Given the description of an element on the screen output the (x, y) to click on. 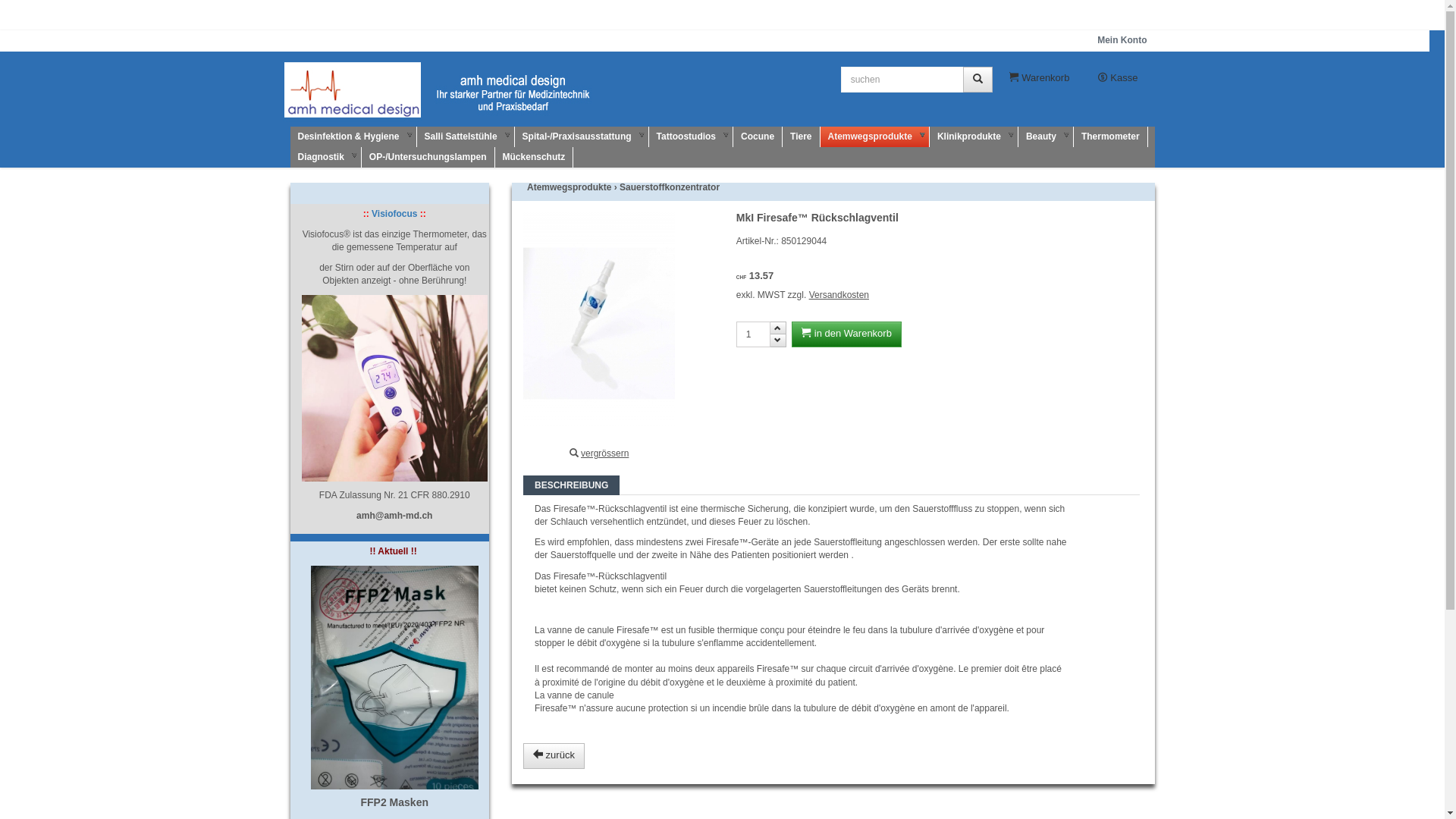
Warenkorb Element type: text (1039, 79)
BESCHREIBUNG Element type: text (571, 485)
Versandkosten Element type: text (839, 294)
OP-/Untersuchungslampen Element type: text (428, 157)
Spital-/Praxisausstattung Element type: text (581, 136)
Mein Konto Element type: text (1121, 39)
in den Warenkorb Element type: text (846, 334)
FFP2 Element type: hover (394, 677)
Tattoostudios Element type: text (691, 136)
Thermometer Element type: text (1110, 136)
Visiofocus Element type: text (394, 213)
Beauty Element type: text (1045, 136)
Klinikprodukte Element type: text (973, 136)
Sauerstoffkonzentrator Element type: text (669, 187)
Atemwegsprodukte Element type: text (874, 136)
Atemwegsprodukte Element type: text (569, 187)
Visiofocus kaufen Element type: hover (394, 387)
Kasse Element type: text (1117, 79)
Tiere Element type: text (800, 136)
Diagnostik Element type: text (324, 157)
Cocune Element type: text (757, 136)
Desinfektion & Hygiene Element type: text (352, 136)
